Given the description of an element on the screen output the (x, y) to click on. 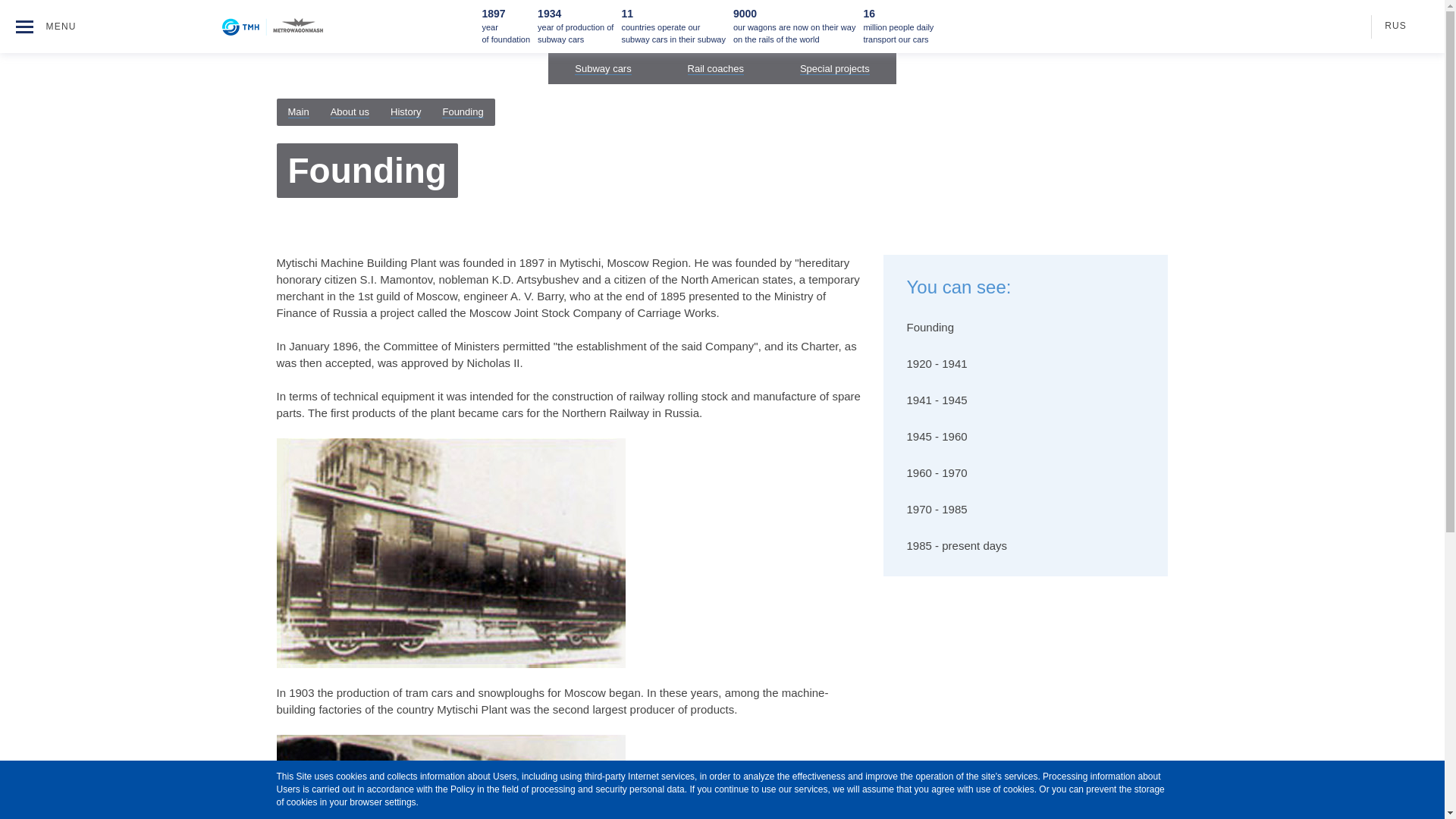
About us (349, 111)
Founding (1025, 327)
Special projects (834, 69)
1985 - present days (1025, 545)
1970 - 1985 (1025, 509)
Subway cars (602, 69)
1920 - 1941 (1025, 364)
1941 - 1945 (1025, 400)
Main (298, 111)
RUS (1388, 25)
